Given the description of an element on the screen output the (x, y) to click on. 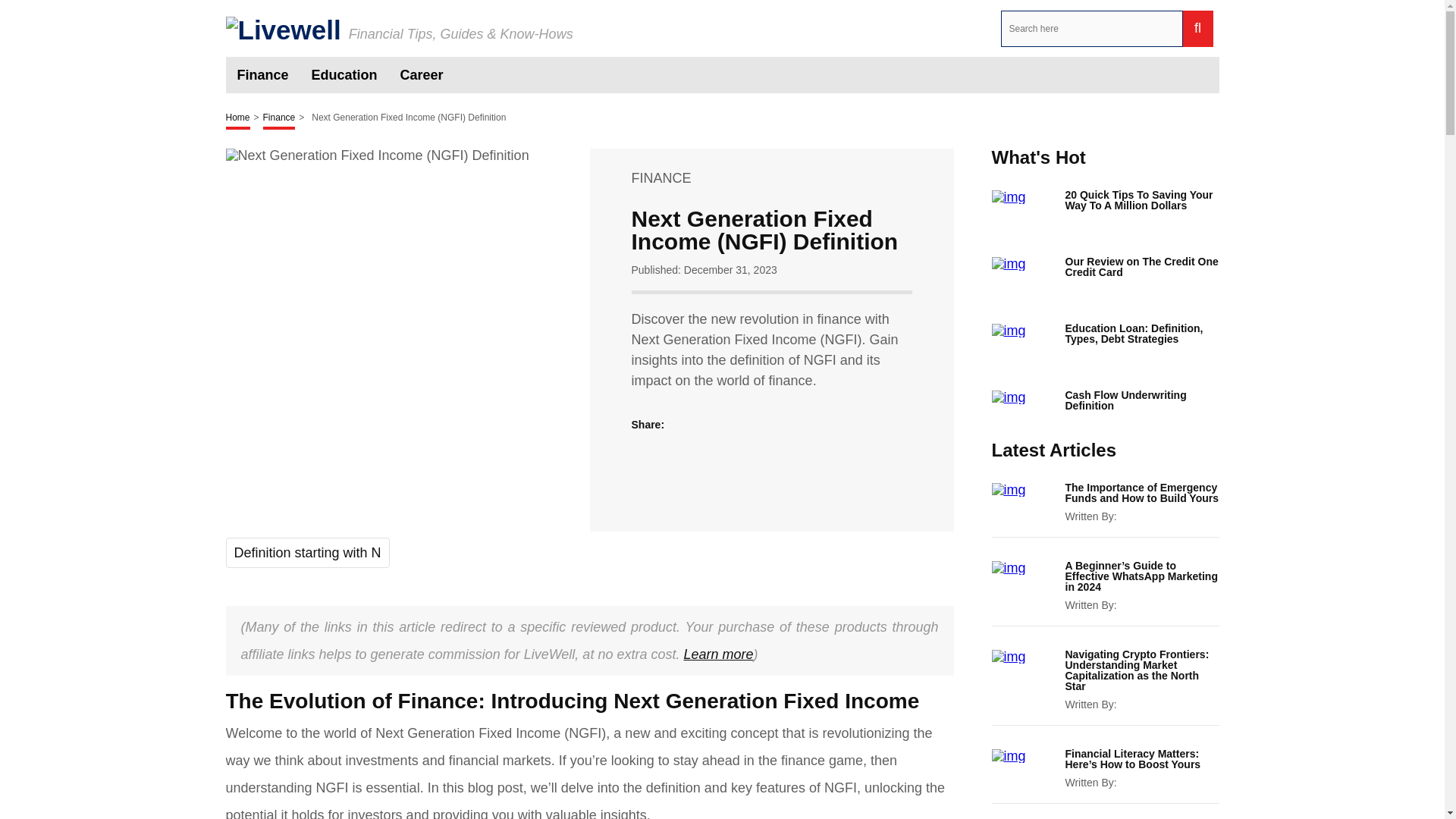
20 Quick Tips To Saving Your Way To A Million Dollars (1141, 199)
Cash Flow Underwriting Definition (1141, 400)
Finance (279, 118)
Home (237, 118)
Learn more (717, 654)
Education (343, 74)
Career (421, 74)
Our Review on The Credit One Credit Card (1141, 266)
Education Loan: Definition, Types, Debt Strategies (1141, 332)
